Given the description of an element on the screen output the (x, y) to click on. 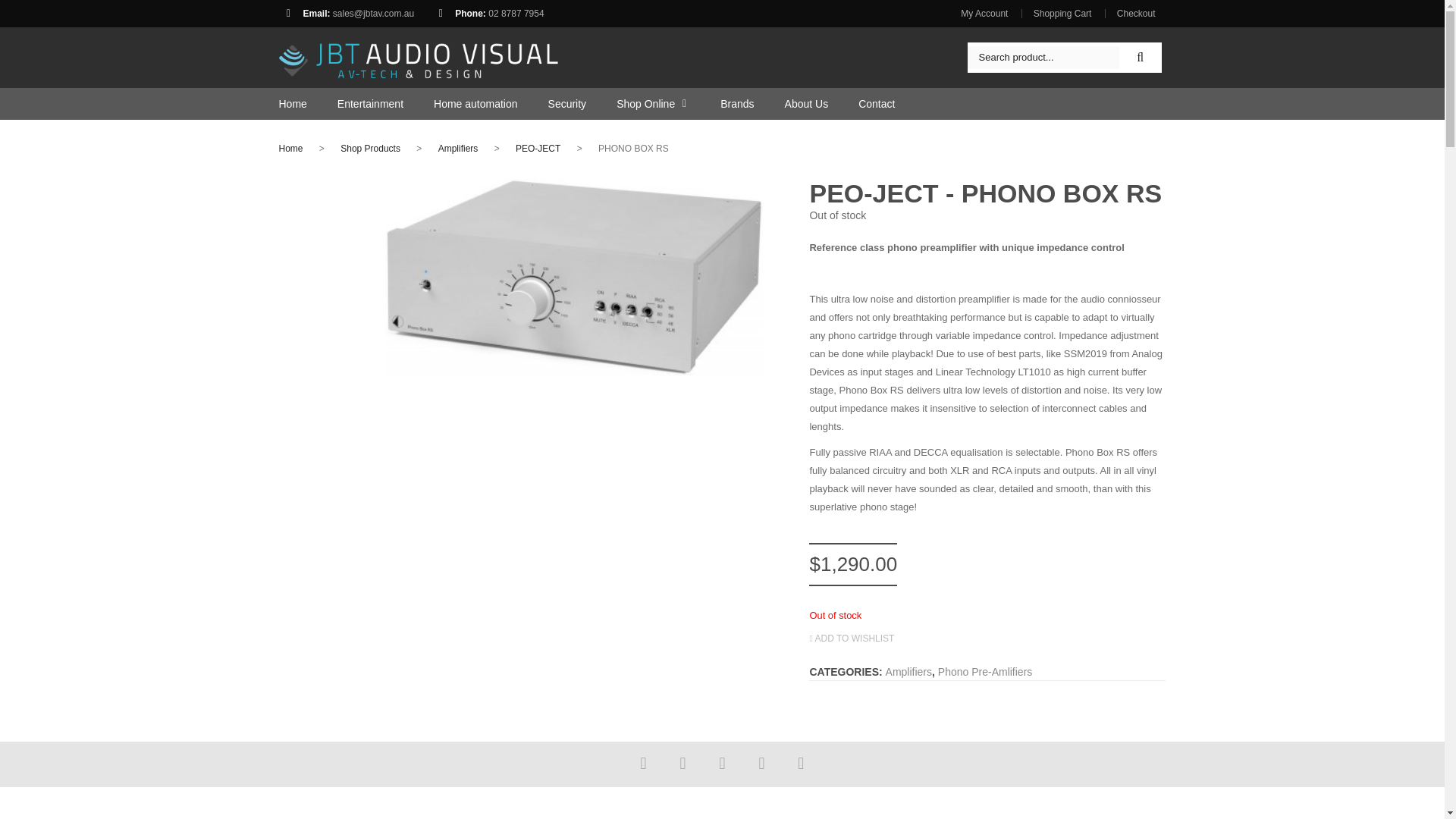
Shopping Cart (1062, 13)
Security (552, 103)
Shop Online (638, 103)
Checkout (1135, 13)
JBT Audio Visual (419, 56)
Entertainment (355, 103)
Home automation (460, 103)
phonoboxrs (574, 276)
My Account (988, 13)
Search product... (1043, 56)
